Given the description of an element on the screen output the (x, y) to click on. 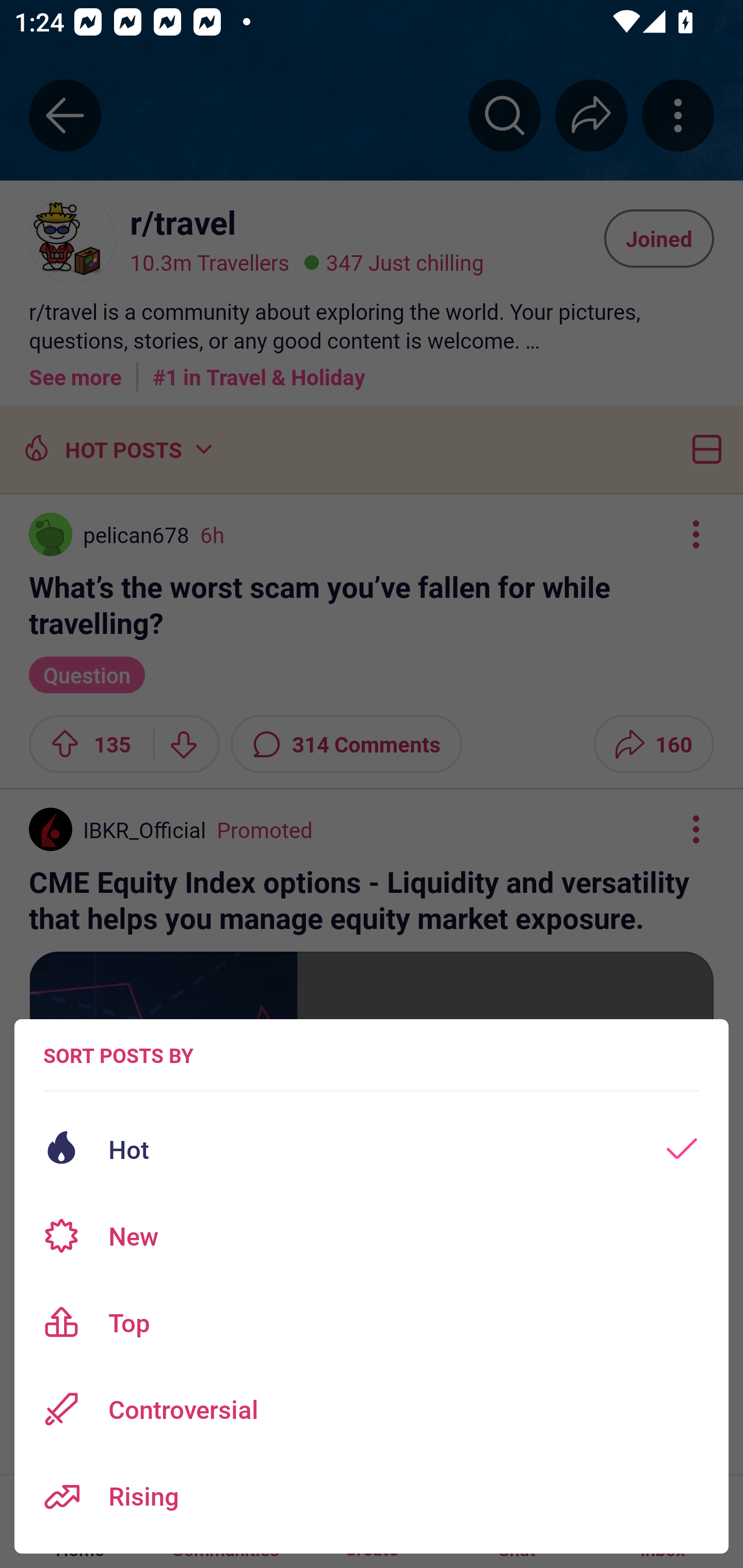
SORT POSTS BY Sort posts options (118, 1055)
Hot (371, 1149)
New (371, 1236)
Top (371, 1322)
Controversial (371, 1408)
Rising (371, 1495)
